Given the description of an element on the screen output the (x, y) to click on. 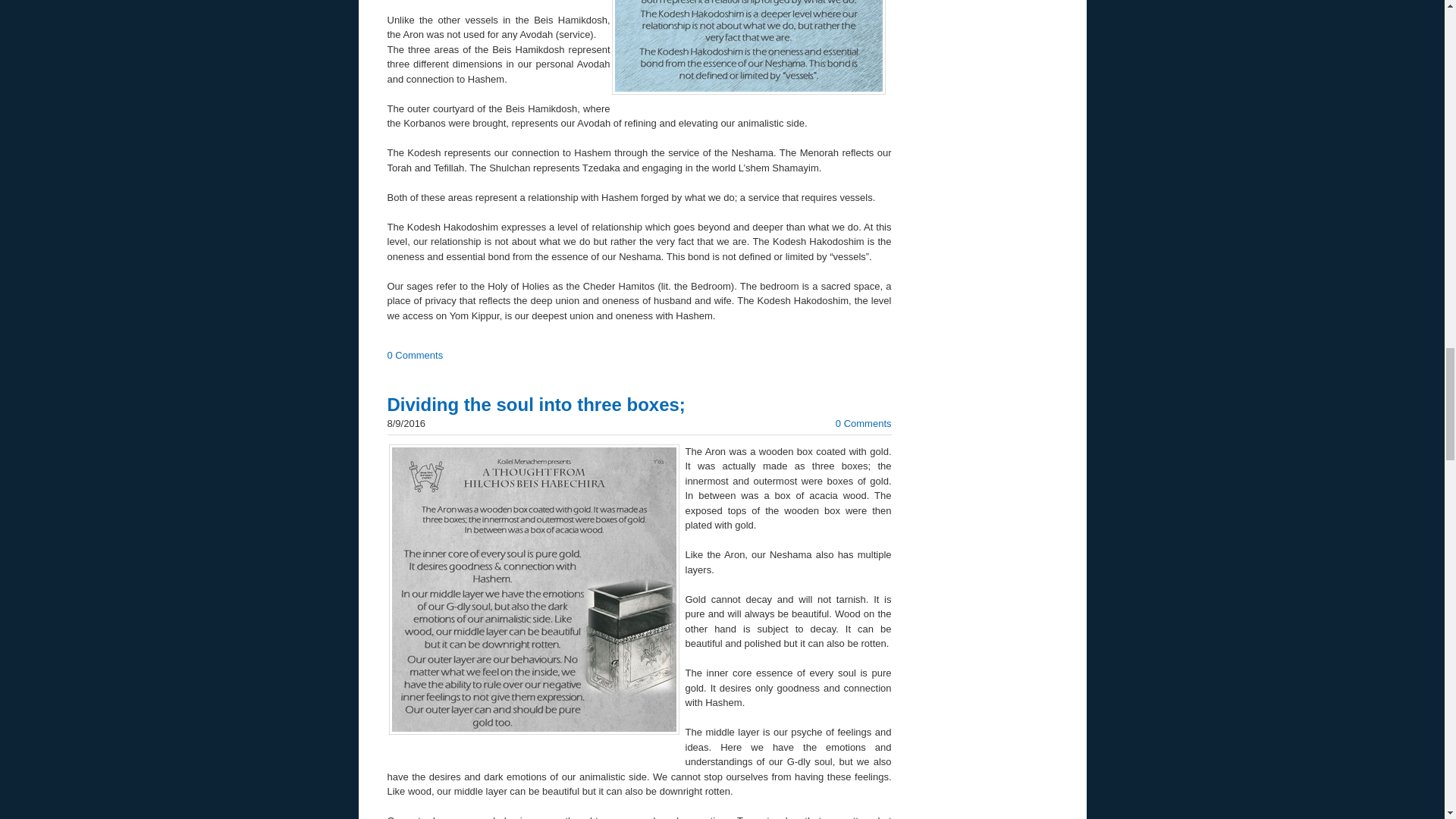
0 Comments (863, 423)
Dividing the soul into three boxes; (535, 403)
0 Comments (414, 355)
